Given the description of an element on the screen output the (x, y) to click on. 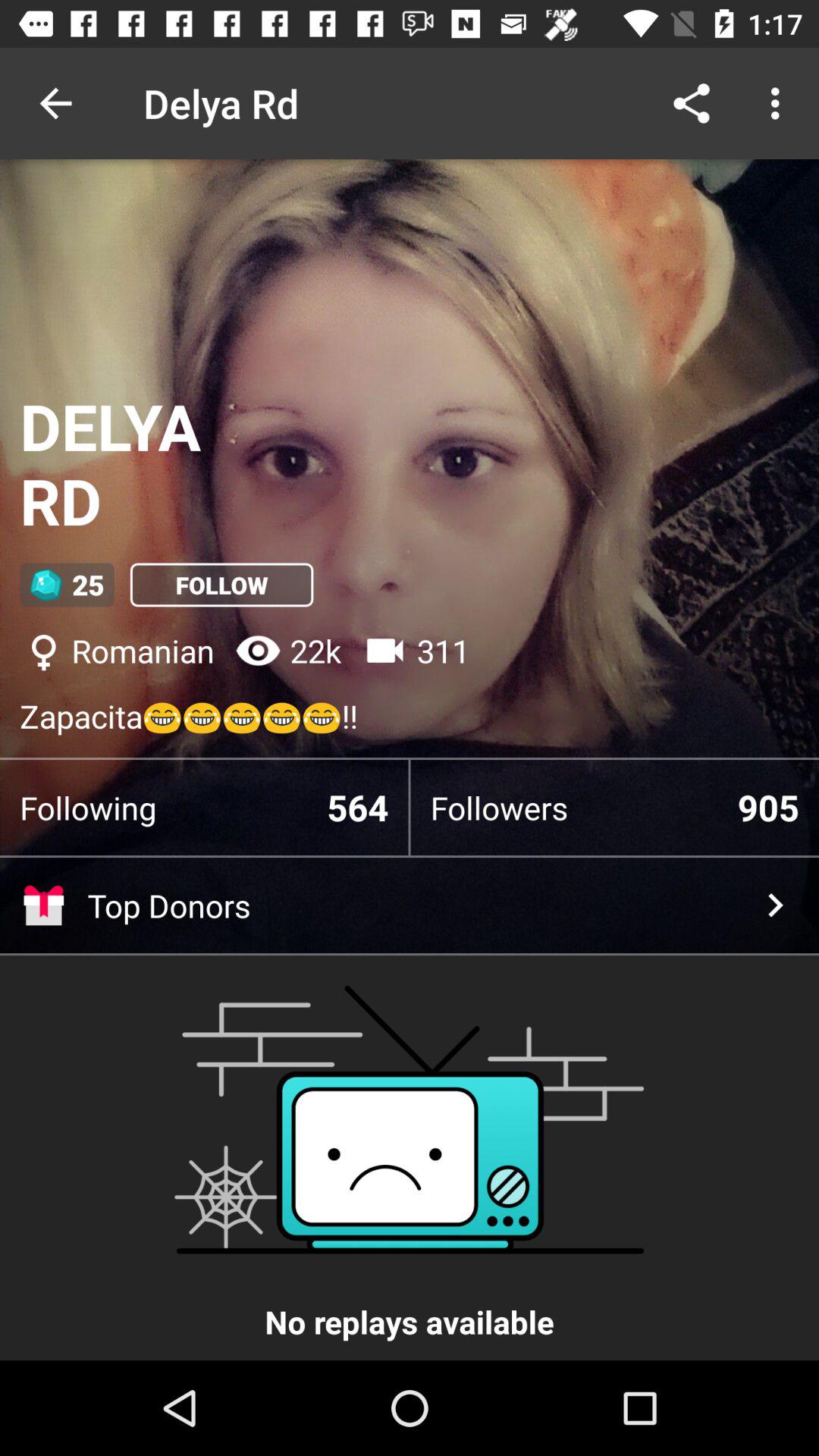
press item below the delya
rd item (221, 584)
